Given the description of an element on the screen output the (x, y) to click on. 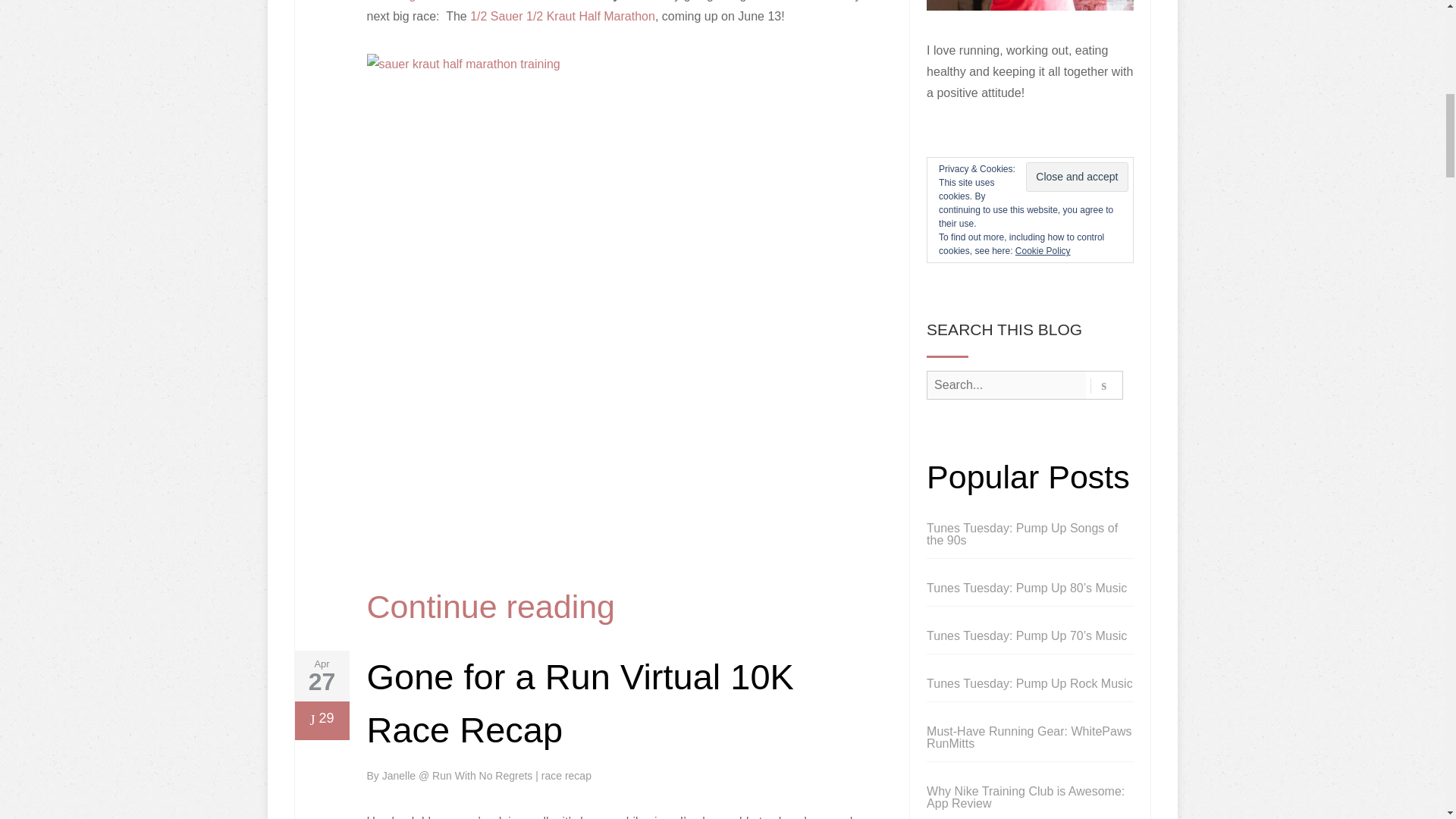
Continue reading (490, 606)
The Frugal Exerciser (423, 0)
29 (320, 720)
Gone for a Run Virtual 10K Race Recap (579, 703)
race recap (566, 775)
Close and accept (1076, 176)
